Given the description of an element on the screen output the (x, y) to click on. 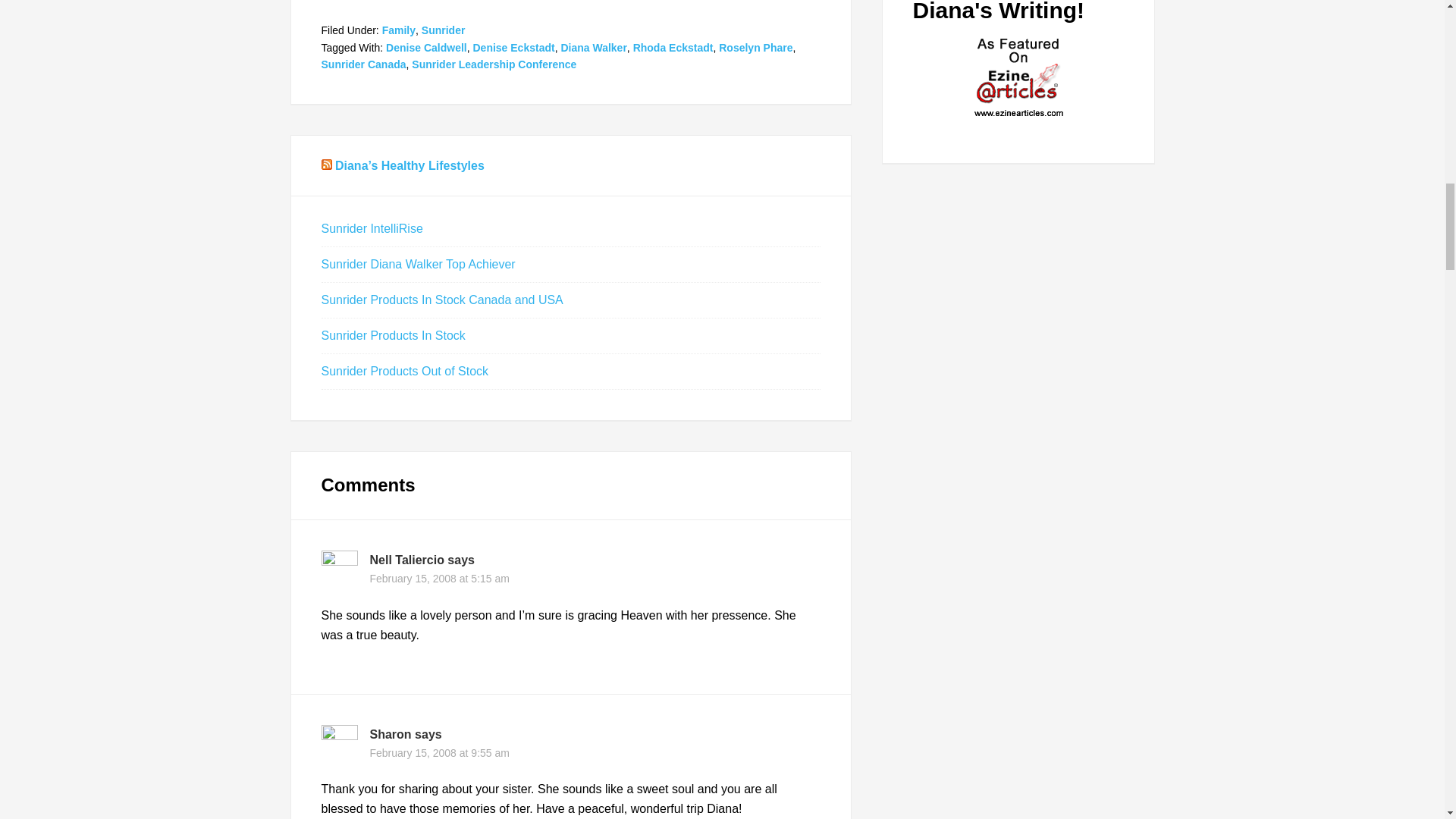
Sunrider Leadership Conference (494, 64)
Denise Eckstadt (512, 46)
Rhoda Eckstadt (673, 46)
Roselyn Phare (755, 46)
Diana Walker (593, 46)
Sunrider Canada (363, 64)
Family (397, 30)
Sunrider Diana Walker Top Achiever (418, 264)
Sunrider Products In Stock Canada and USA (442, 299)
Sunrider IntelliRise (372, 228)
